Given the description of an element on the screen output the (x, y) to click on. 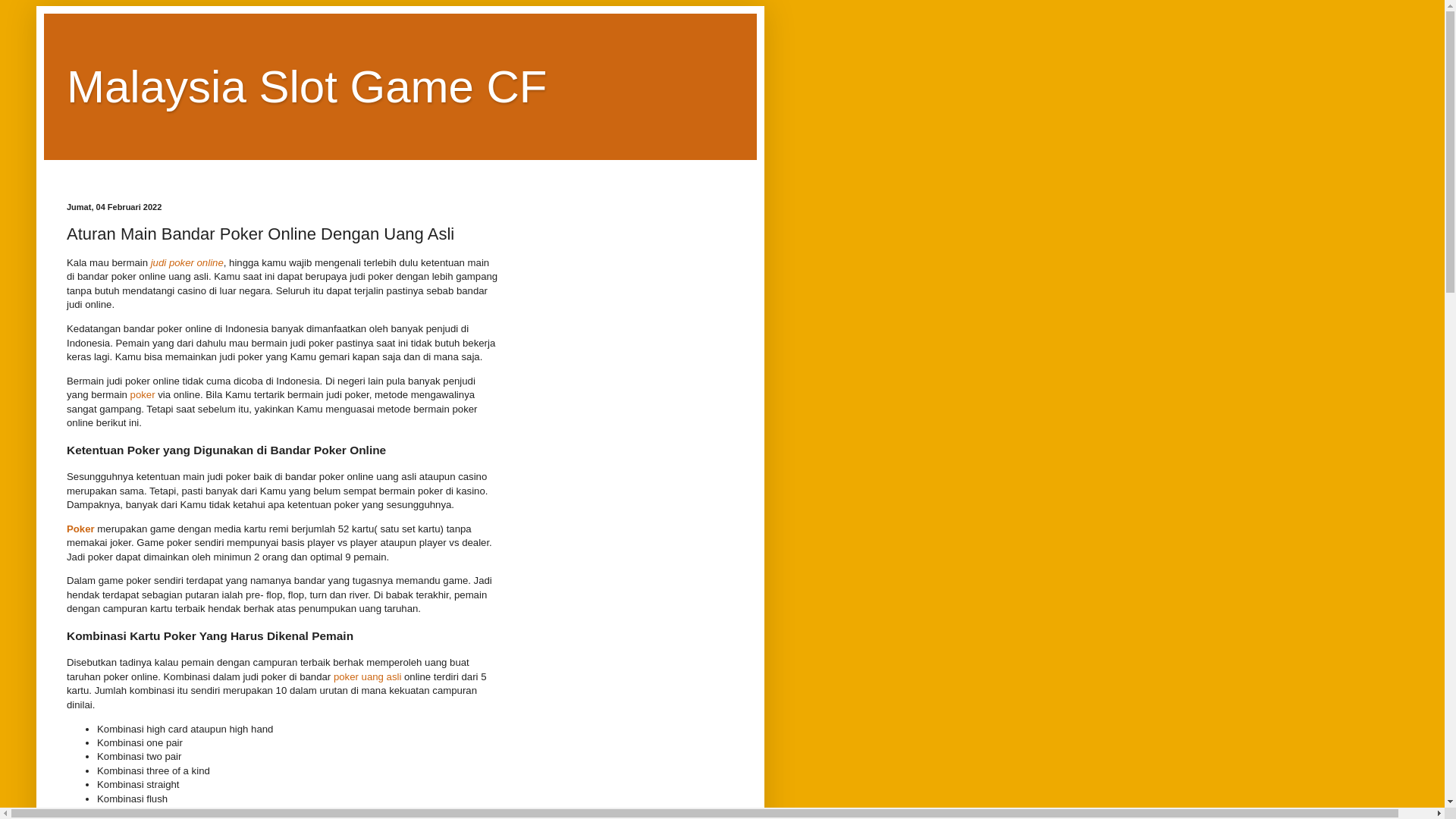
poker Element type: text (142, 394)
Malaysia Slot Game CF Element type: text (306, 86)
judi poker online Element type: text (186, 262)
Poker Element type: text (80, 528)
poker uang asli Element type: text (367, 676)
